Given the description of an element on the screen output the (x, y) to click on. 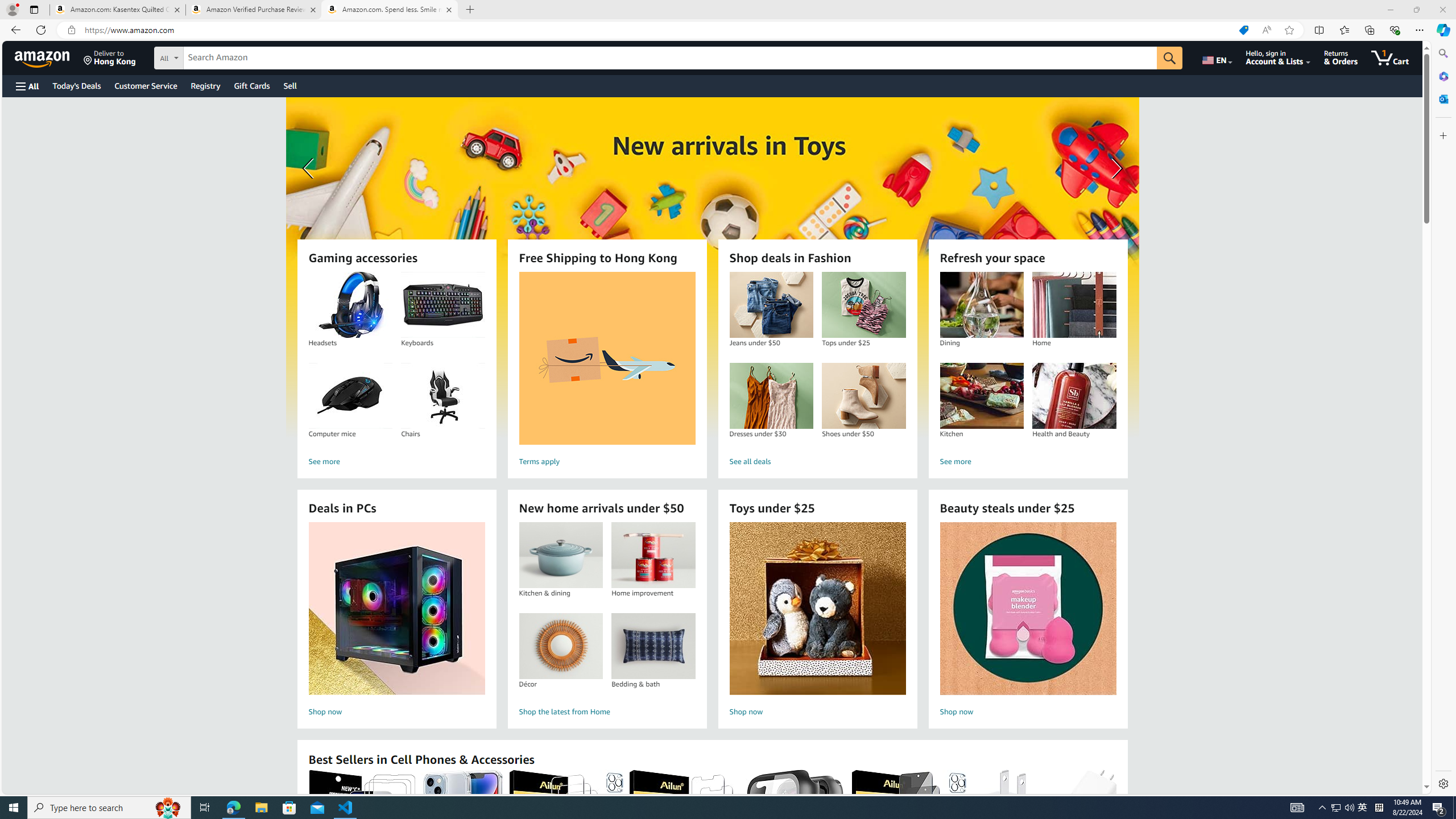
See all deals (817, 461)
Dining (981, 304)
Next slide (1114, 168)
Free Shipping to Hong Kong Terms apply (606, 370)
Shoes under $50 (863, 395)
Free Shipping to Hong Kong (606, 357)
Health and Beauty (1074, 395)
